Given the description of an element on the screen output the (x, y) to click on. 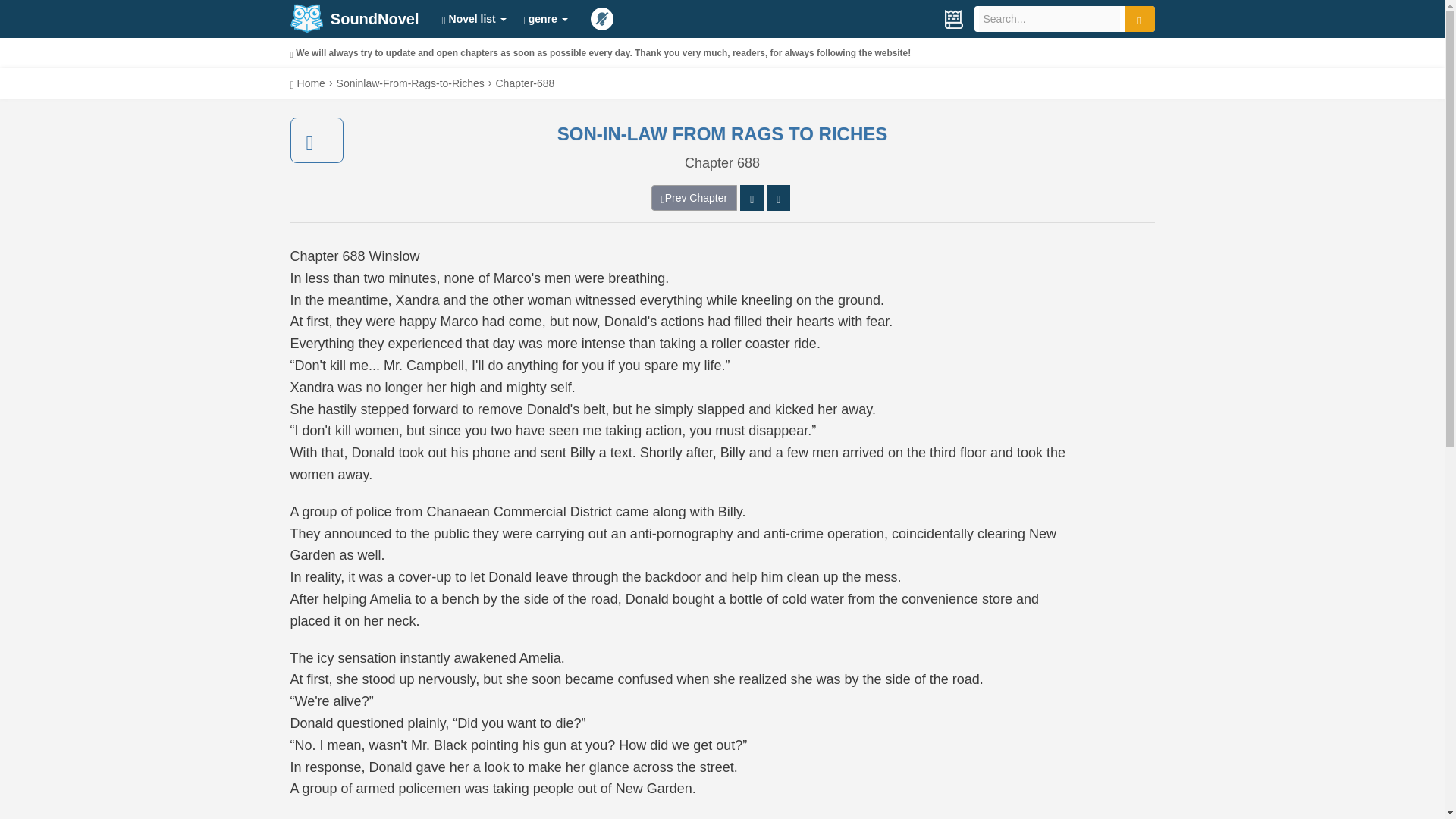
Search book (1139, 18)
Your Reading Novels (952, 18)
genre (544, 18)
Chapter-688 (525, 82)
Novel list (473, 18)
Read Novels Online Free (305, 18)
Soninlaw-From-Rags-to-Riches (410, 82)
SoundNovel (354, 18)
Read Novels Online Free (306, 82)
Night mode (601, 18)
